Given the description of an element on the screen output the (x, y) to click on. 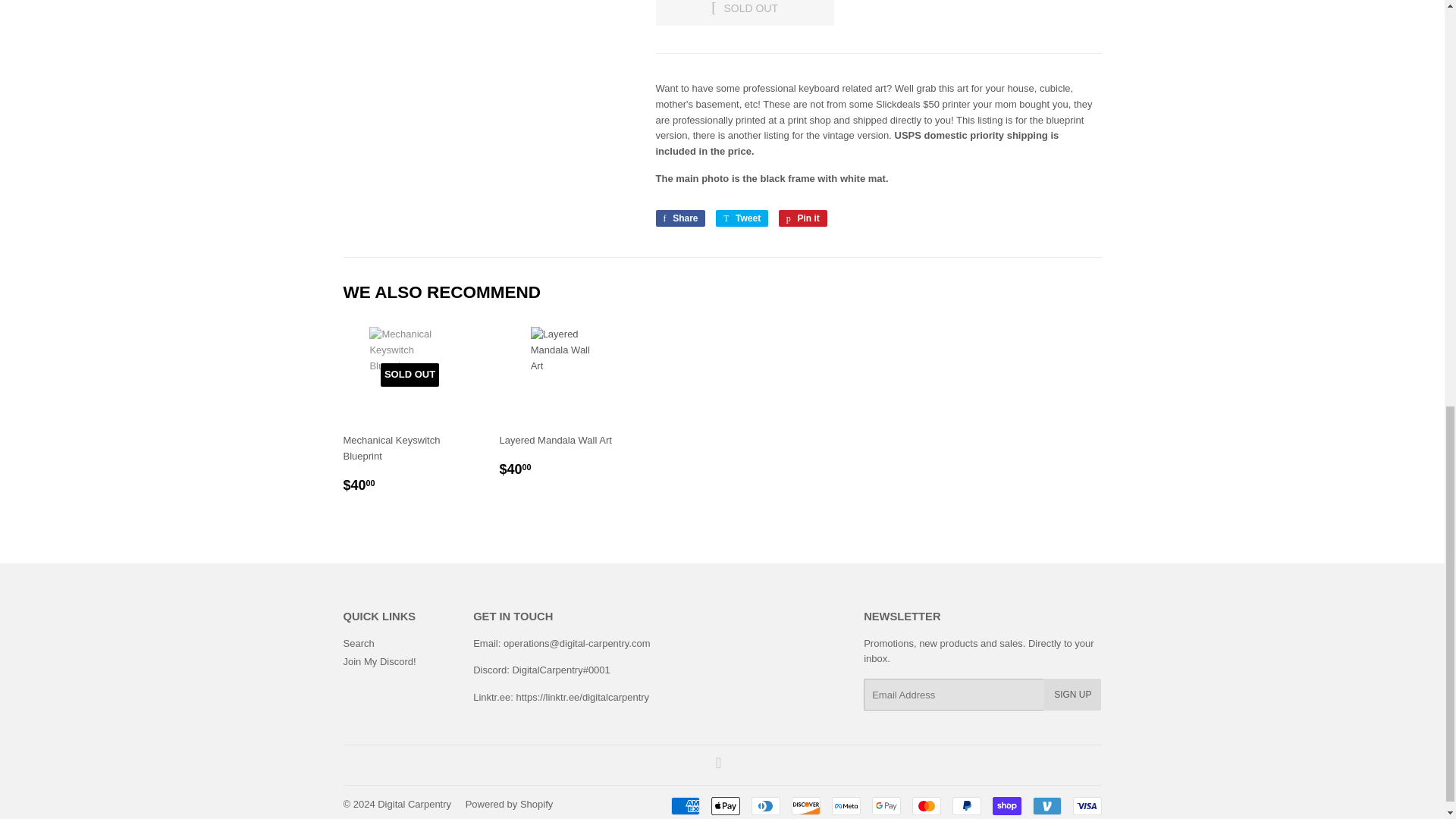
SOLD OUT (743, 12)
Venmo (1046, 805)
Pin on Pinterest (802, 217)
Google Pay (886, 805)
Meta Pay (845, 805)
Visa (1085, 805)
PayPal (966, 805)
Mastercard (925, 805)
American Express (683, 805)
Share on Facebook (679, 217)
